Given the description of an element on the screen output the (x, y) to click on. 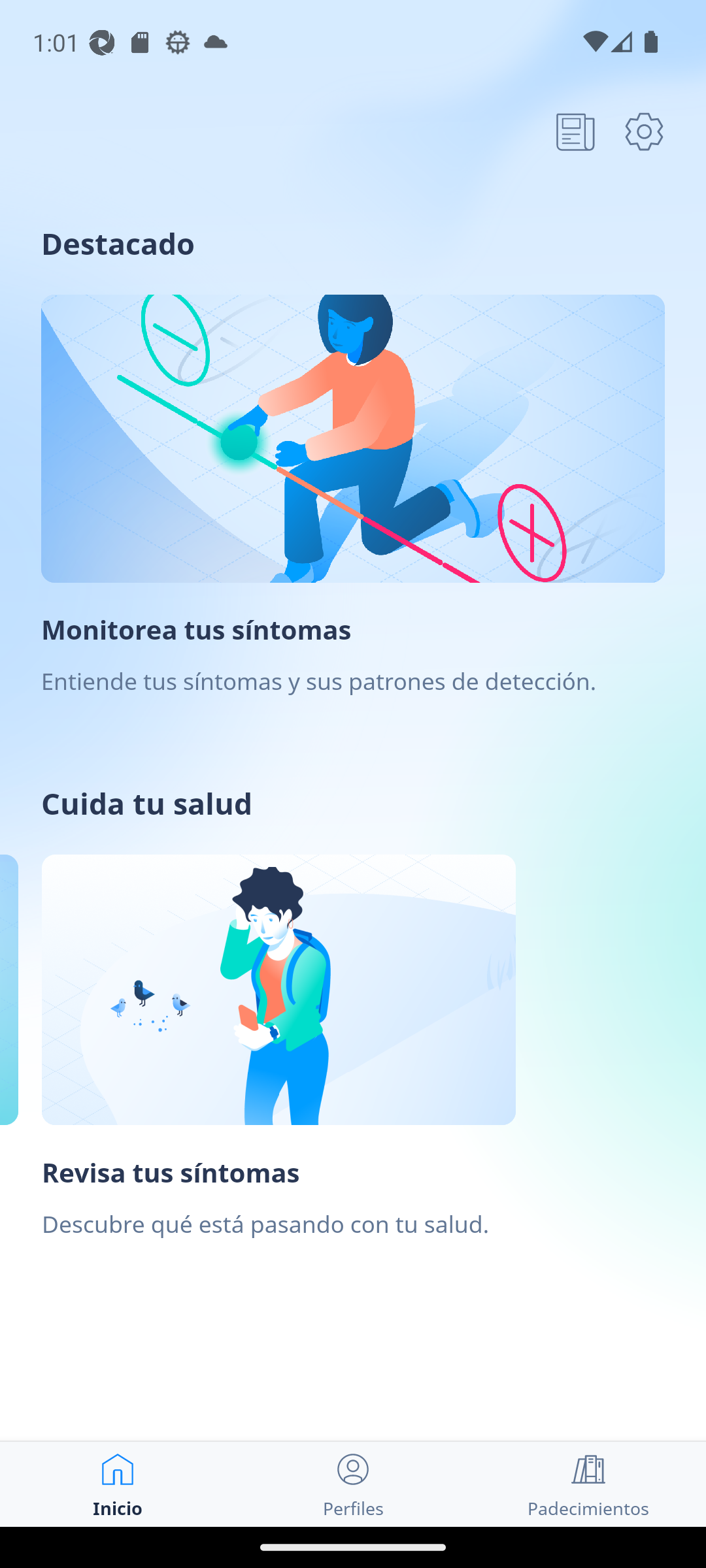
article icon , open articles (574, 131)
settings icon, open settings (644, 131)
Inicio (117, 1484)
Perfiles (352, 1484)
Padecimientos (588, 1484)
